Given the description of an element on the screen output the (x, y) to click on. 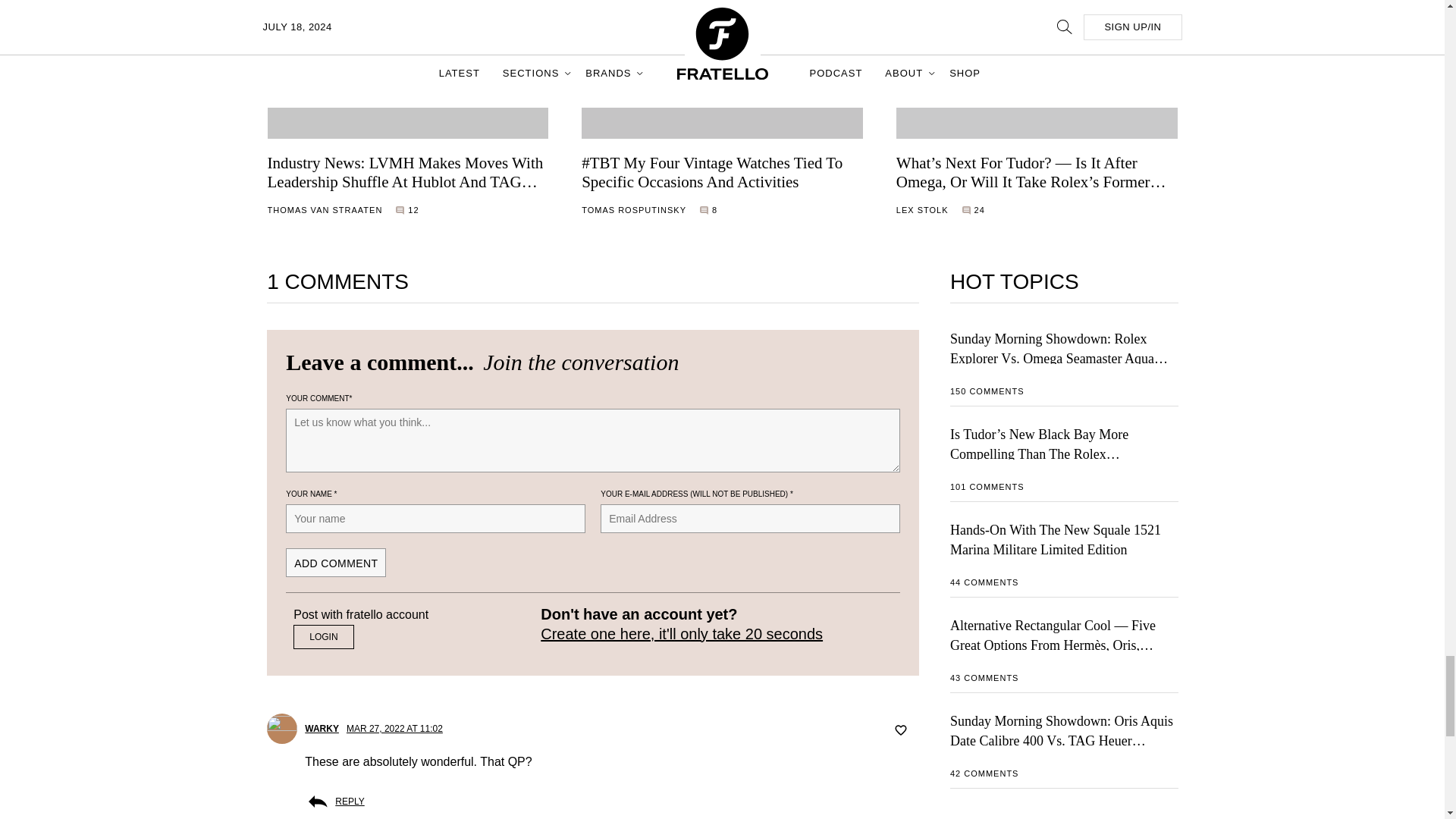
Add comment (335, 561)
